Given the description of an element on the screen output the (x, y) to click on. 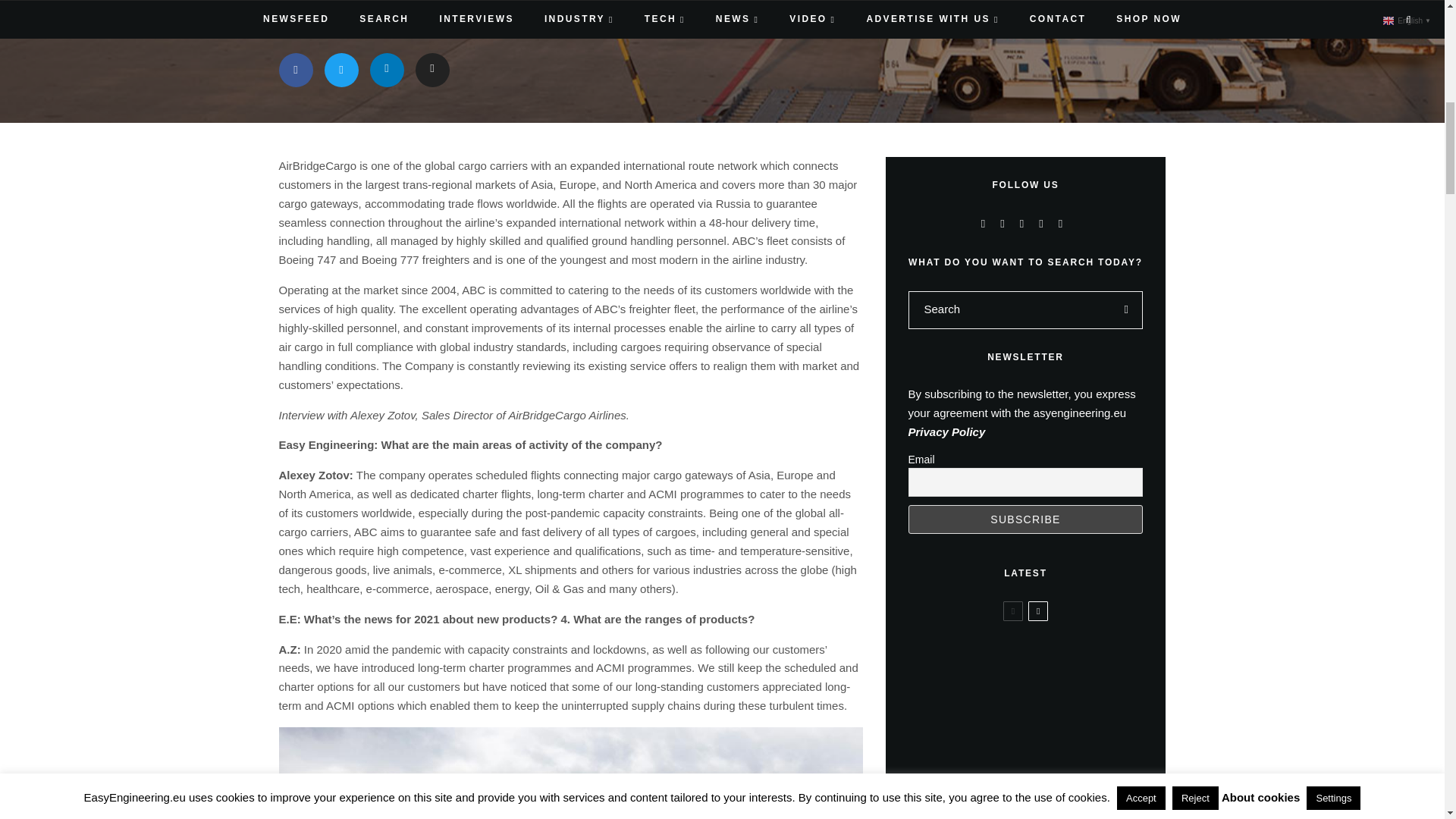
Subscribe (1025, 519)
